Given the description of an element on the screen output the (x, y) to click on. 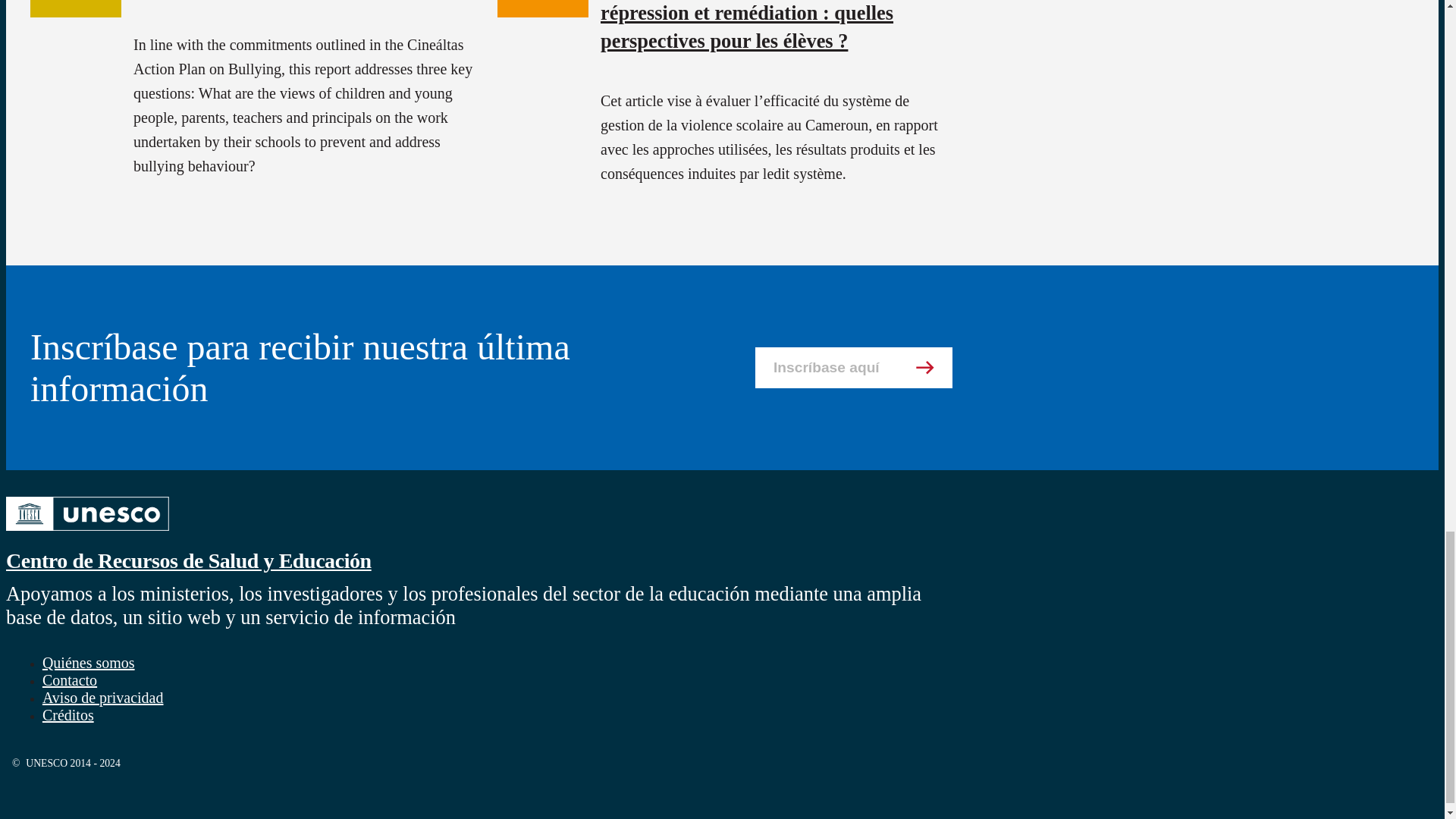
Home (188, 560)
Home (86, 532)
